Given the description of an element on the screen output the (x, y) to click on. 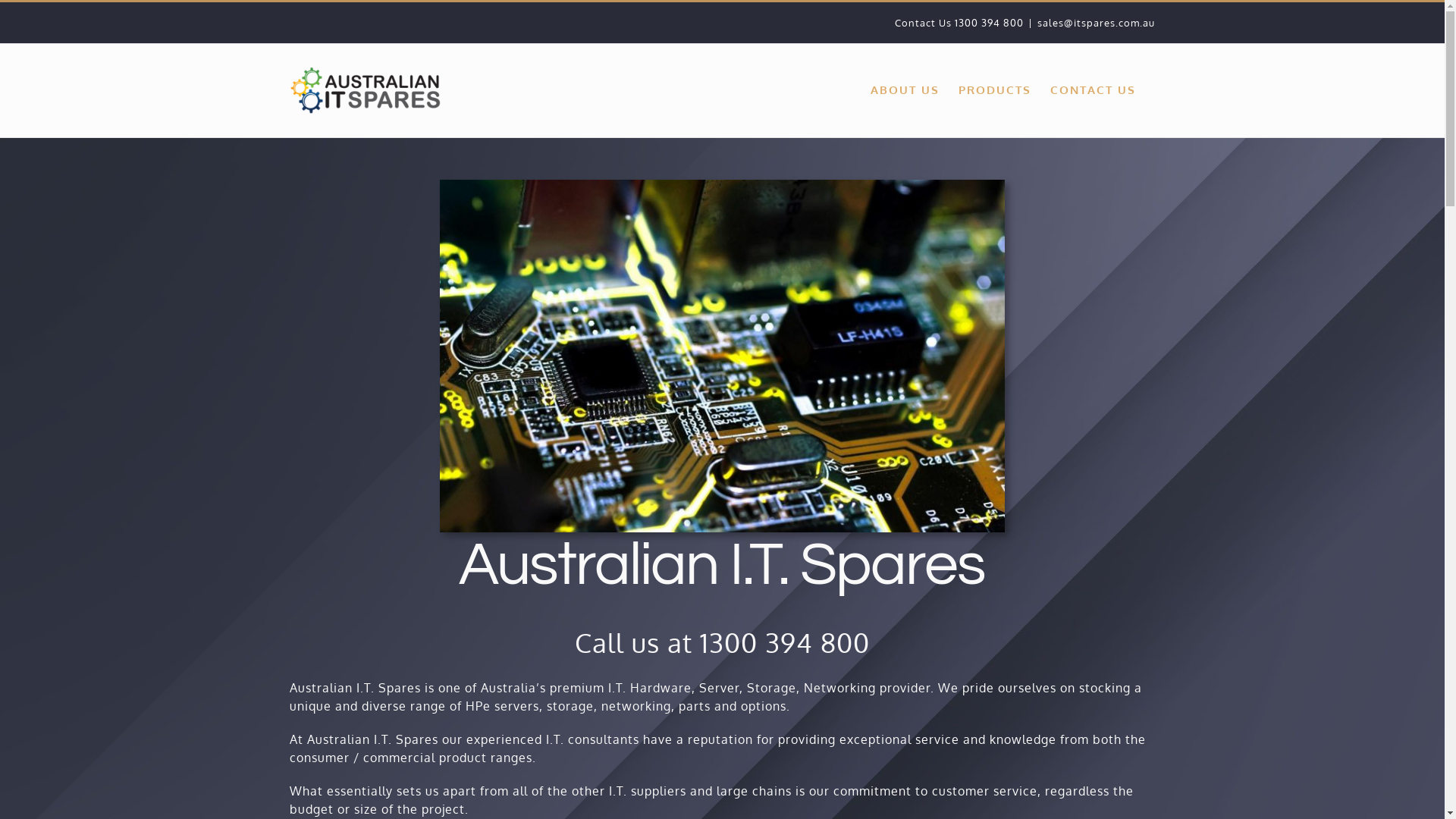
ABOUT US Element type: text (904, 88)
sales@itspares.com.au Element type: text (1095, 22)
CONTACT US Element type: text (1092, 88)
PRODUCTS Element type: text (994, 88)
2098480 Element type: hover (721, 356)
